Given the description of an element on the screen output the (x, y) to click on. 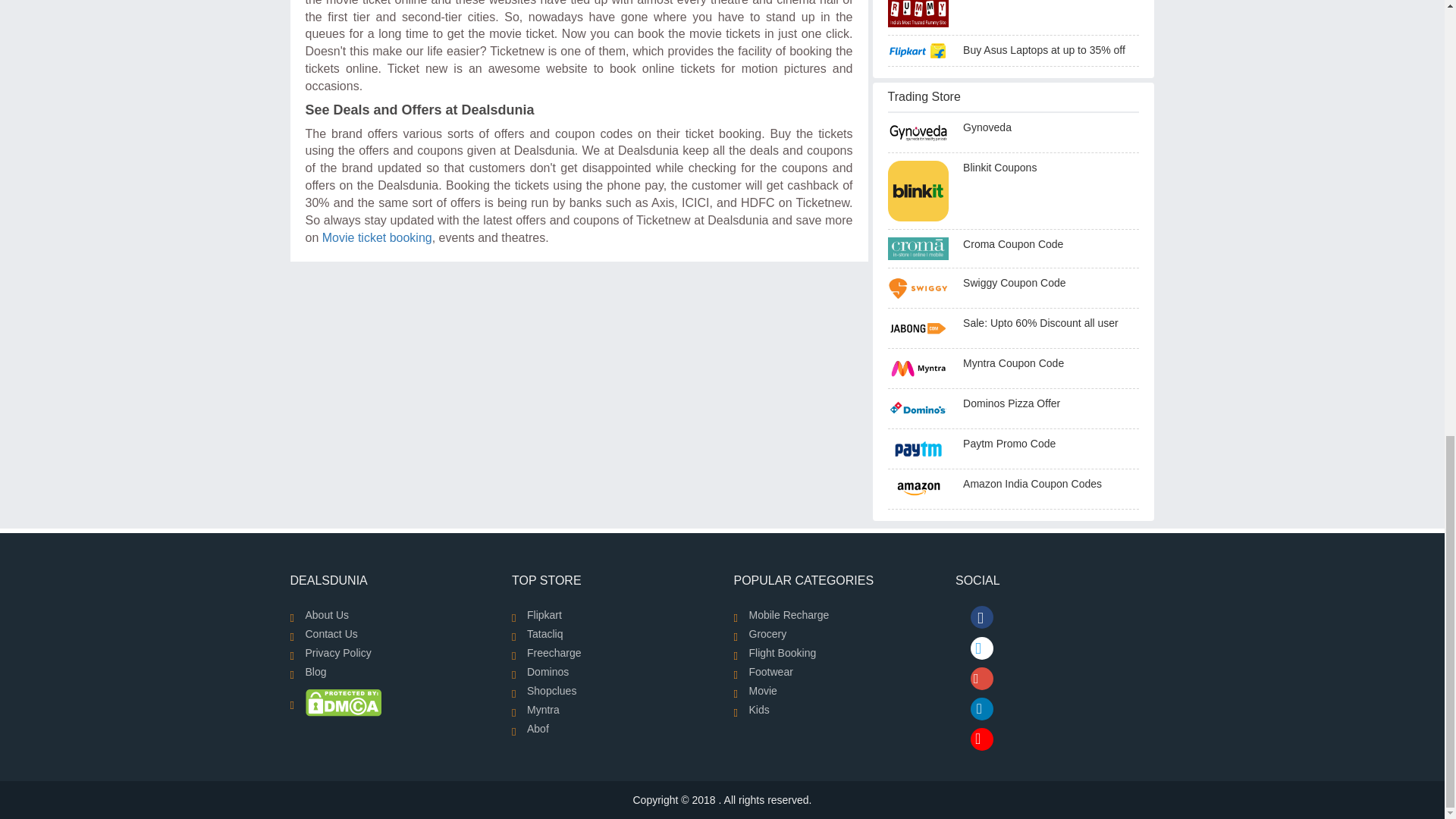
Get Bonus Of Rs.8,850 on Joinng (924, 13)
